Given the description of an element on the screen output the (x, y) to click on. 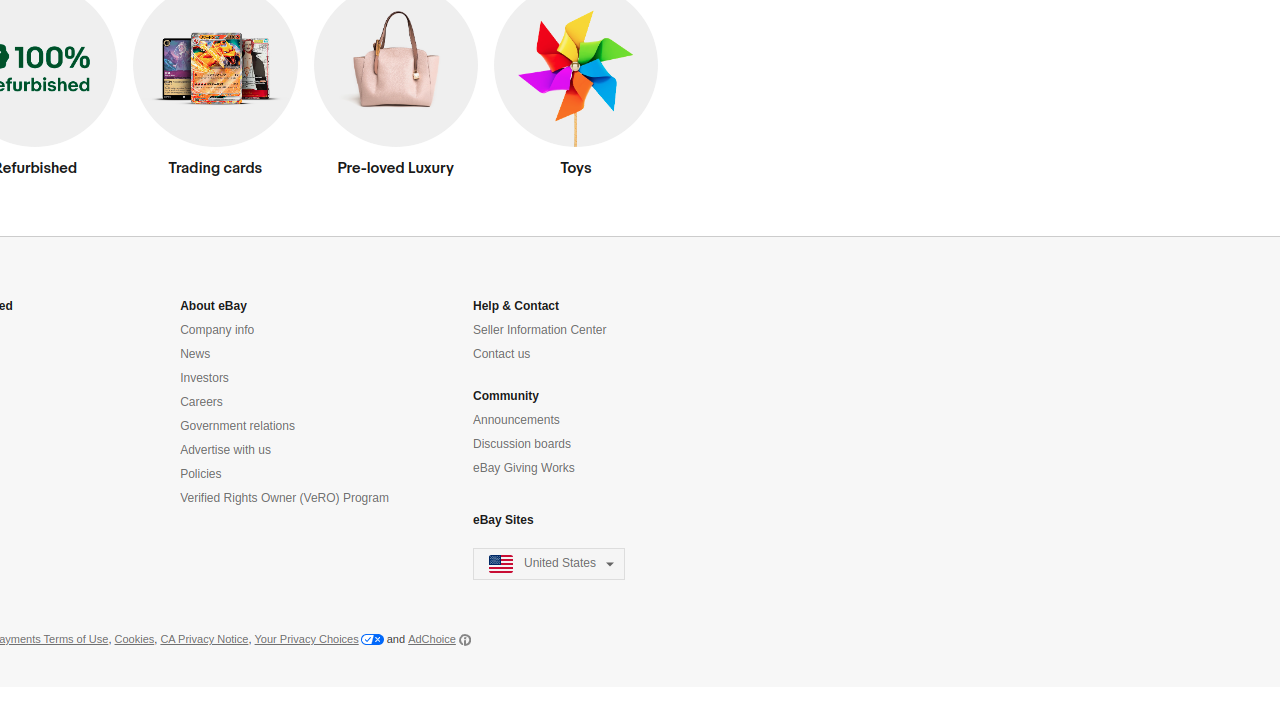
Discussion boards Element type: link (522, 444)
CA Privacy Notice Element type: link (204, 640)
Verified Rights Owner (VeRO) Program Element type: link (284, 498)
Contact us Element type: link (502, 354)
About eBay Element type: link (213, 306)
